Given the description of an element on the screen output the (x, y) to click on. 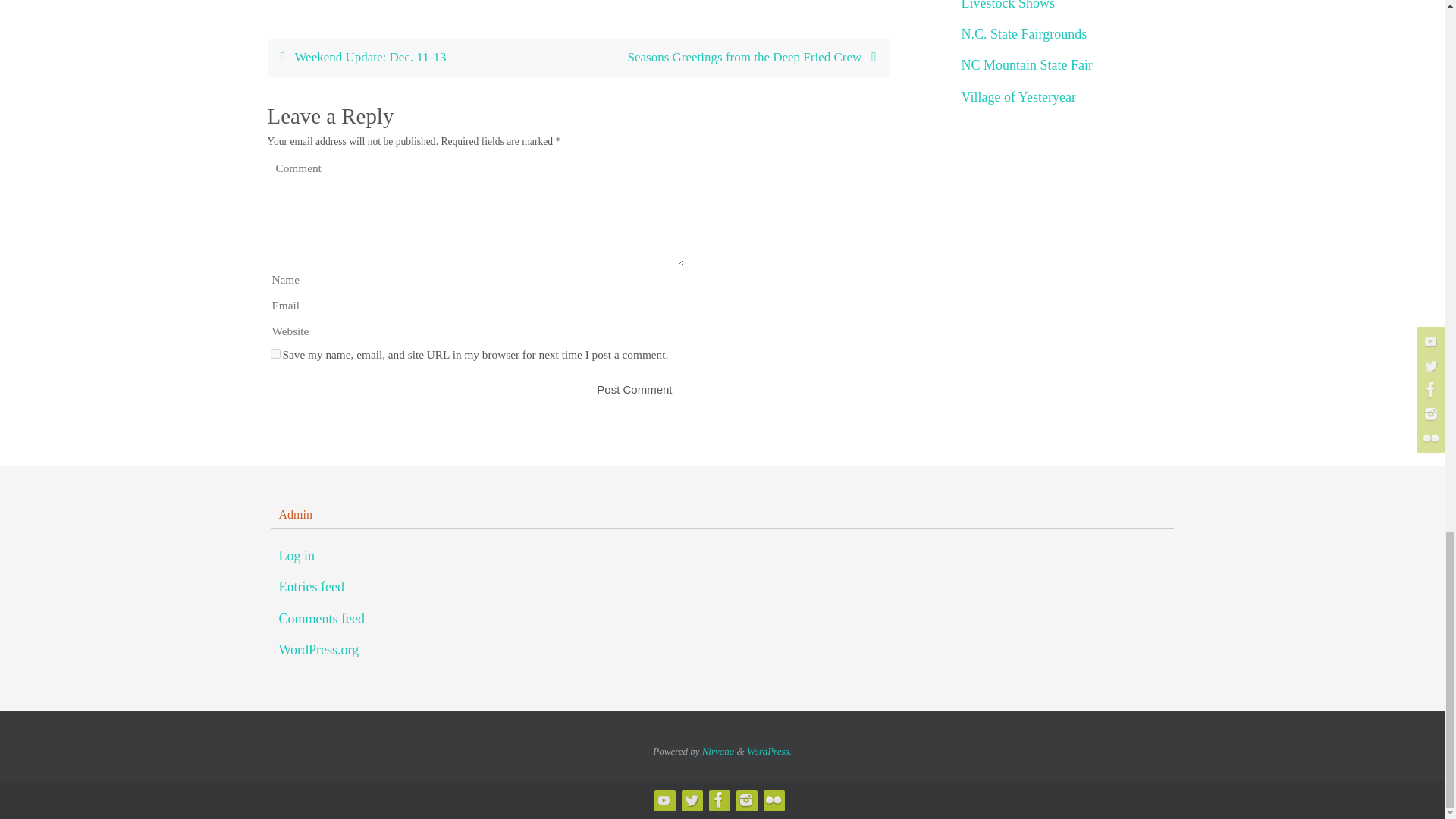
Post Comment (634, 389)
Post Comment (634, 389)
yes (274, 353)
Seasons Greetings from the Deep Fried Crew (733, 57)
Weekend Update: Dec. 11-13 (422, 57)
